Given the description of an element on the screen output the (x, y) to click on. 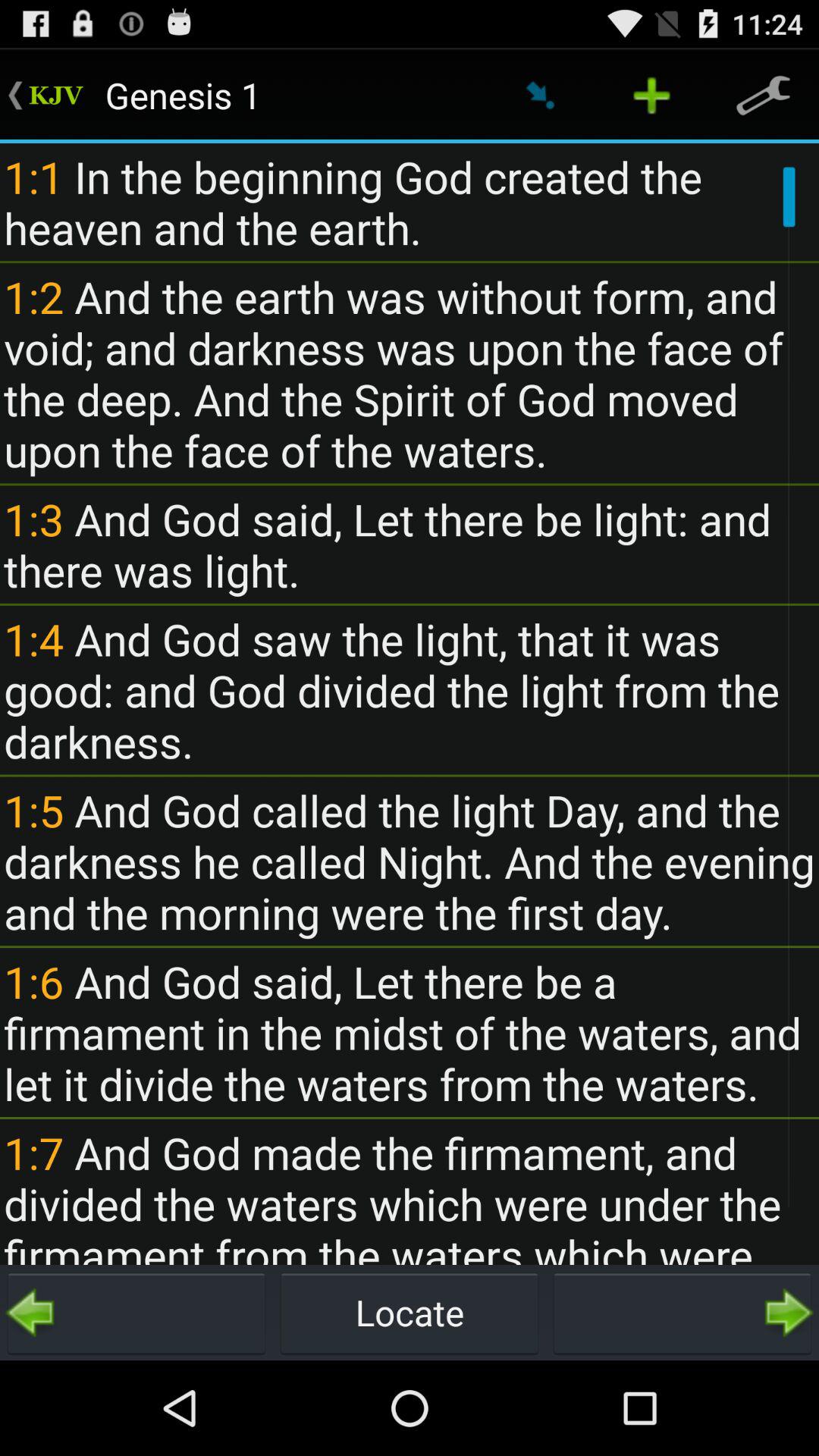
proceed to next (682, 1312)
